Given the description of an element on the screen output the (x, y) to click on. 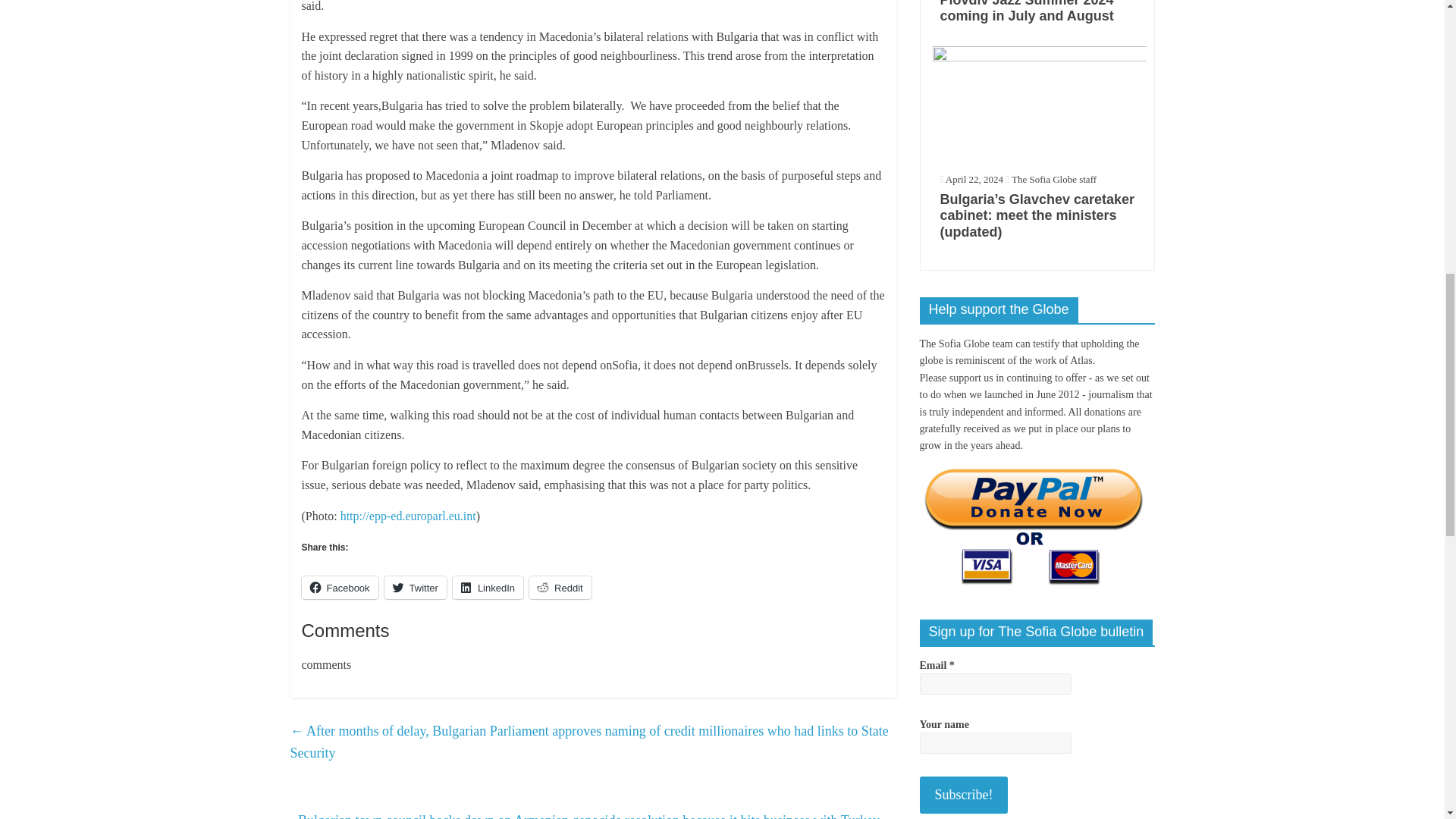
Reddit (560, 587)
Twitter (415, 587)
Subscribe! (962, 795)
Click to share on Twitter (415, 587)
Click to share on LinkedIn (487, 587)
Facebook (339, 587)
Click to share on Reddit (560, 587)
LinkedIn (487, 587)
Click to share on Facebook (339, 587)
